Given the description of an element on the screen output the (x, y) to click on. 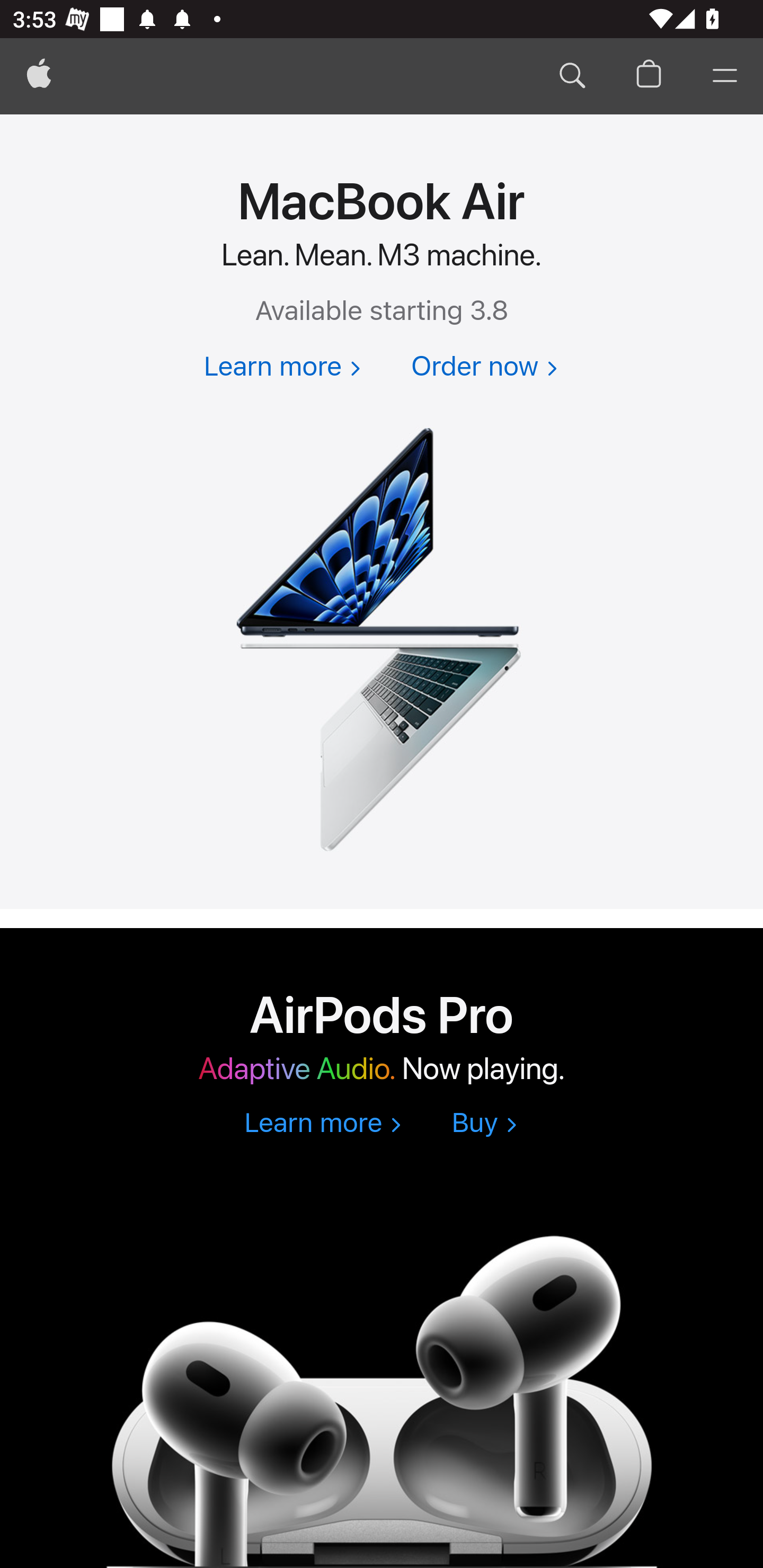
Apple (38, 75)
Search apple.com (572, 75)
Shopping Bag (648, 75)
Menu (724, 75)
Order now, Macbook Air with M3 chip Order now  (483, 367)
Learn more about AirPods Pro Learn more  (322, 1124)
Buy AirPods Pro Buy  (484, 1124)
